Given the description of an element on the screen output the (x, y) to click on. 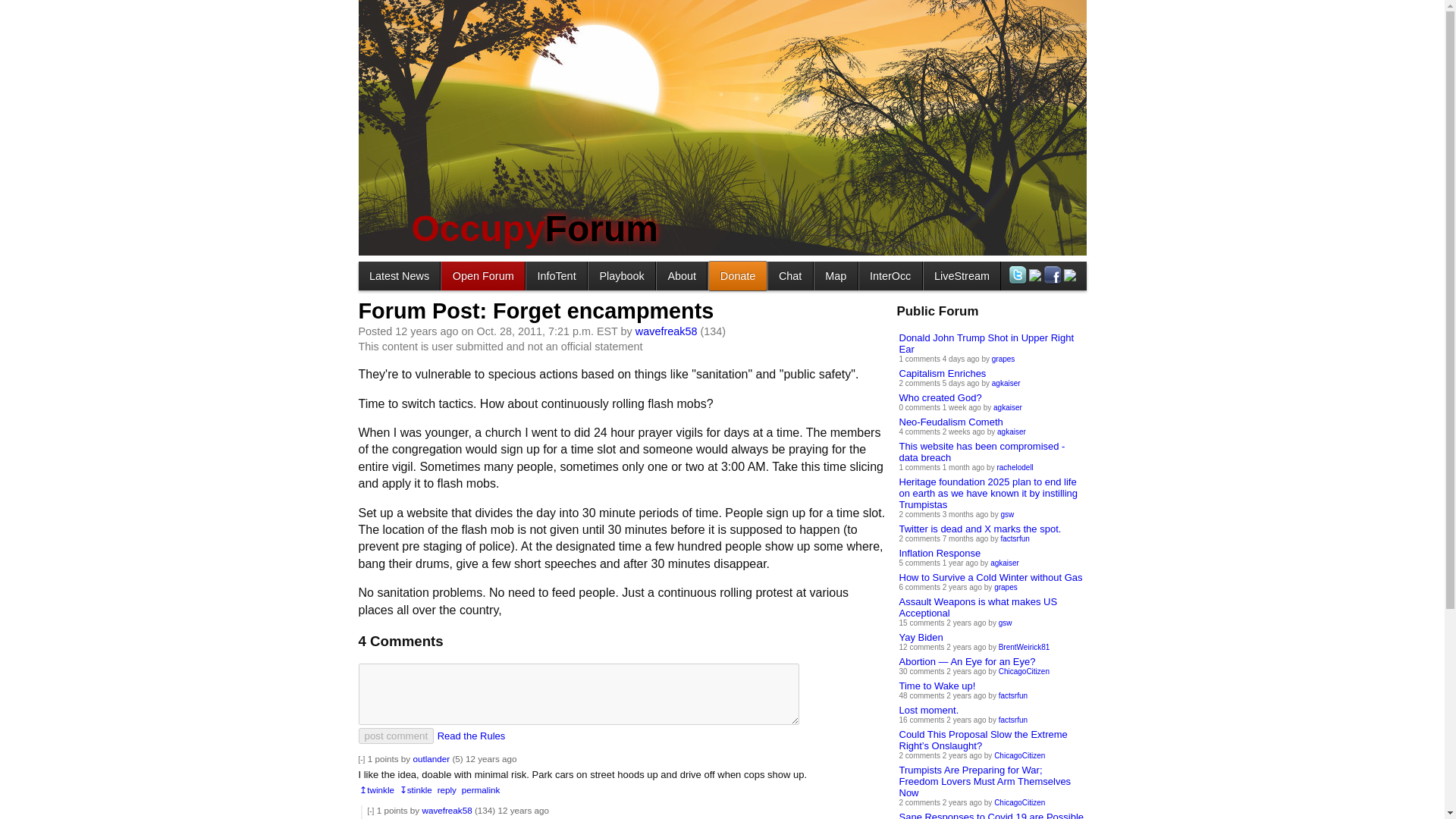
The End of Protest (621, 275)
Latest News (398, 275)
OccupyForum (534, 228)
Playbook (621, 275)
About Us (681, 275)
About (681, 275)
InfoTent (555, 275)
News Articles (398, 275)
Open Forum (482, 275)
Public discussion board (482, 275)
Online Guide to the Occupy movement (555, 275)
